Given the description of an element on the screen output the (x, y) to click on. 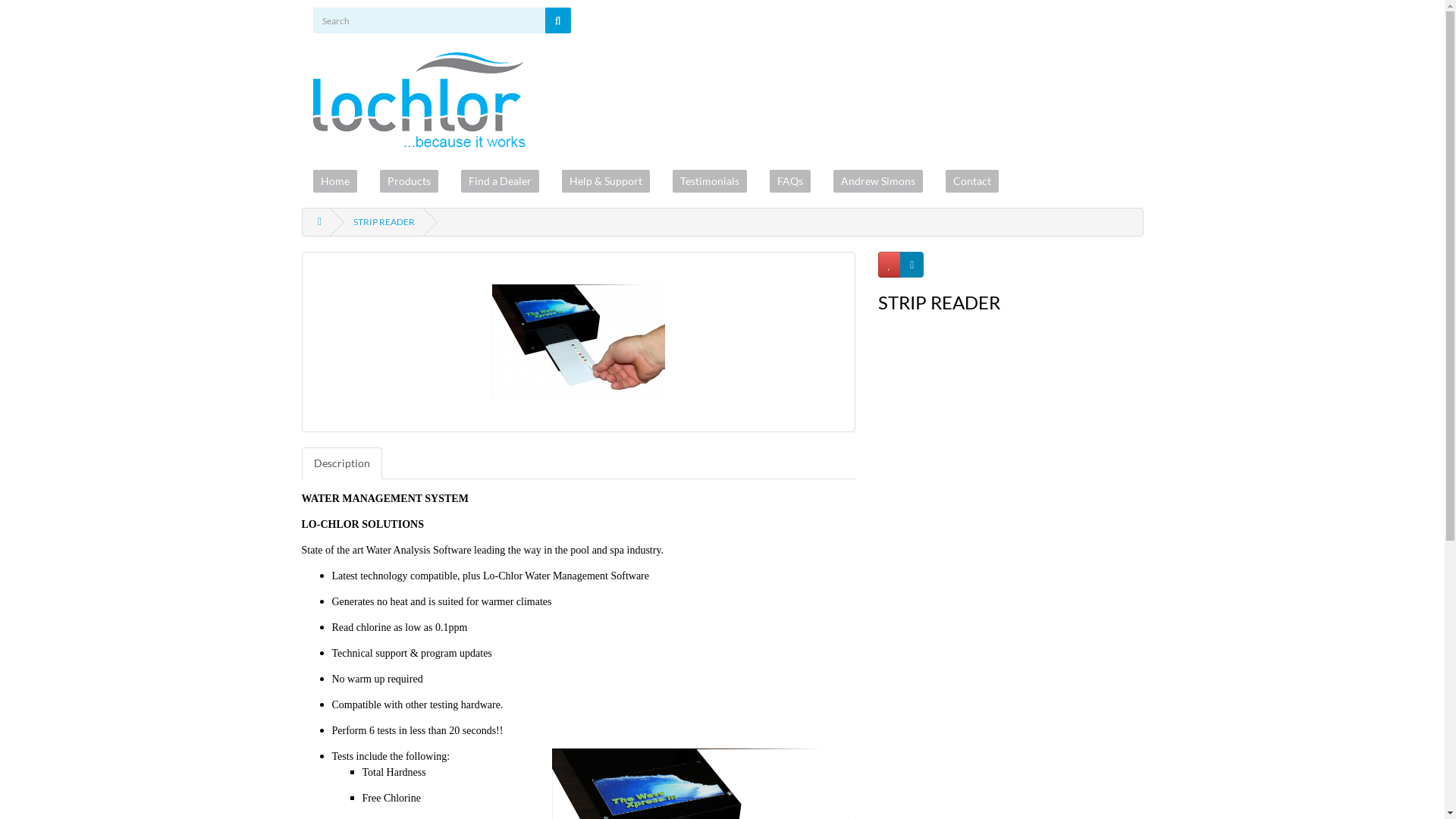
Home Element type: text (334, 180)
Description Element type: text (341, 463)
FAQs Element type: text (788, 180)
STRIP READER Element type: text (383, 221)
Help & Support Element type: text (605, 180)
Andrew Simons Element type: text (877, 180)
Contact Element type: text (970, 180)
Lo-chlor Chemicals Element type: hover (418, 99)
Testimonials Element type: text (708, 180)
STRIP READER Element type: hover (578, 341)
STRIP READER Element type: hover (577, 341)
Find a Dealer Element type: text (500, 180)
Products Element type: text (408, 180)
